Given the description of an element on the screen output the (x, y) to click on. 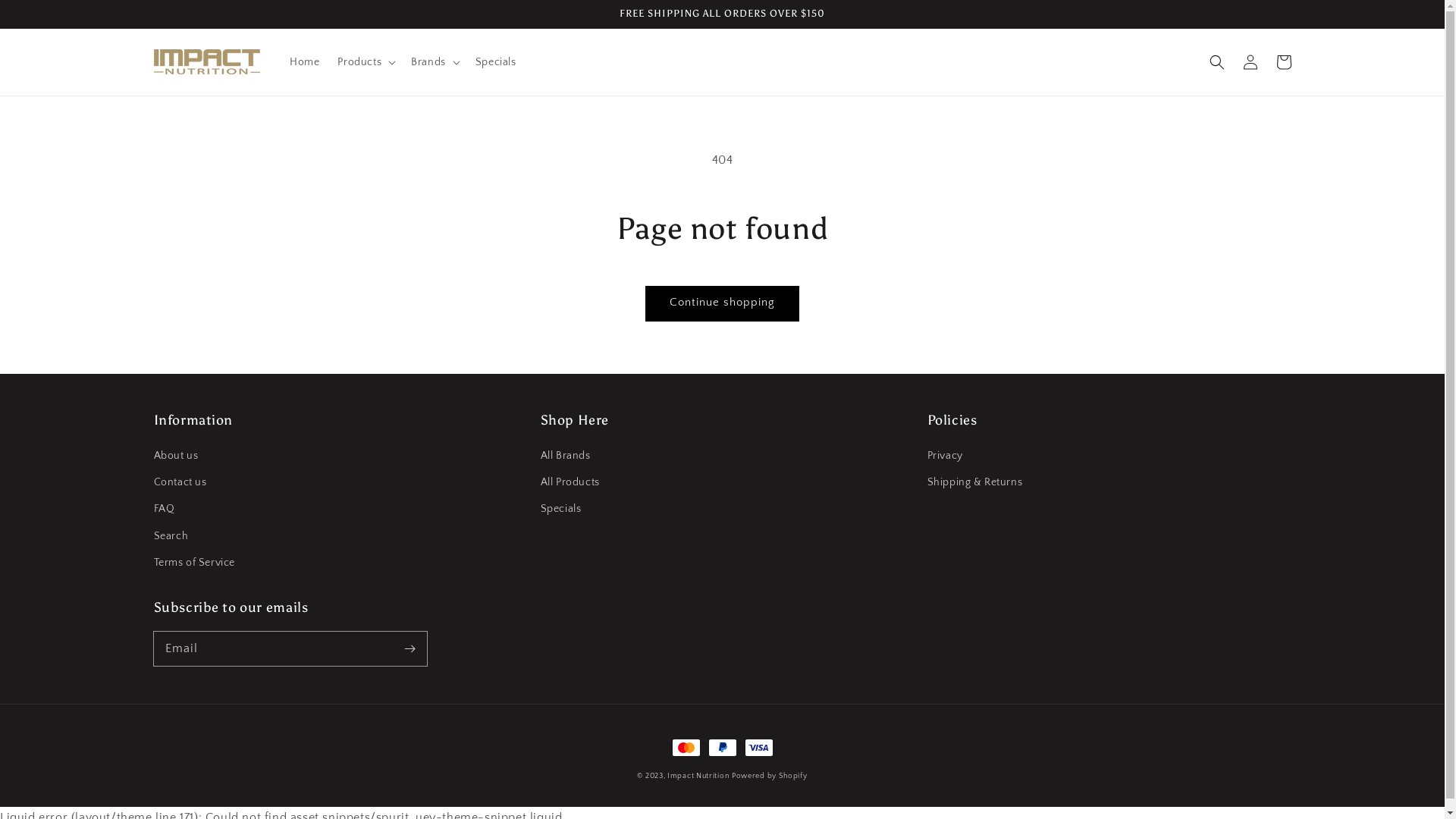
Contact us Element type: text (179, 482)
Log in Element type: text (1249, 61)
Continue shopping Element type: text (722, 303)
Terms of Service Element type: text (194, 562)
Home Element type: text (304, 62)
Impact Nutrition Element type: text (697, 775)
All Products Element type: text (569, 482)
All Brands Element type: text (564, 457)
Specials Element type: text (559, 508)
Privacy Element type: text (944, 457)
About us Element type: text (175, 457)
Cart Element type: text (1282, 61)
Search Element type: text (170, 536)
Shipping & Returns Element type: text (974, 482)
Powered by Shopify Element type: text (769, 775)
Specials Element type: text (495, 62)
FAQ Element type: text (163, 508)
